Given the description of an element on the screen output the (x, y) to click on. 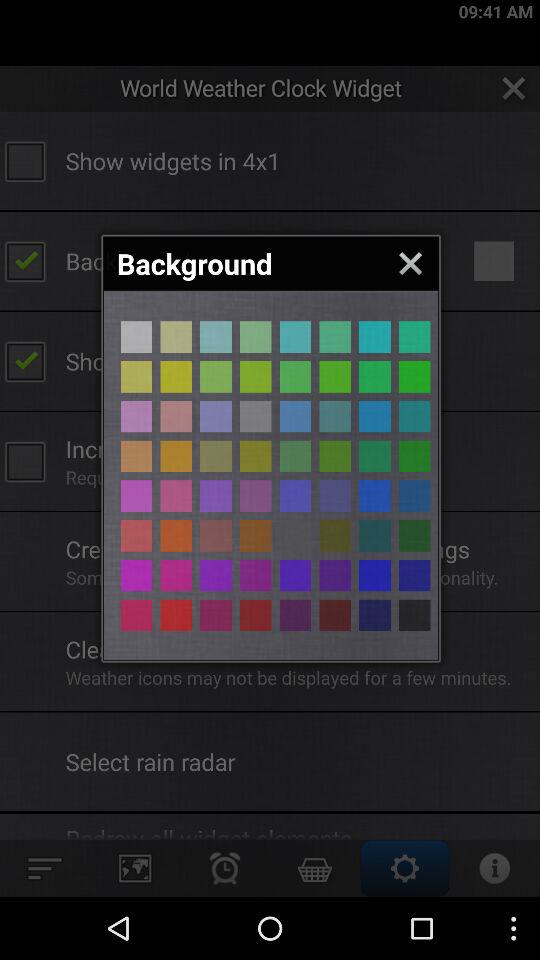
pick orange background color (136, 495)
